Given the description of an element on the screen output the (x, y) to click on. 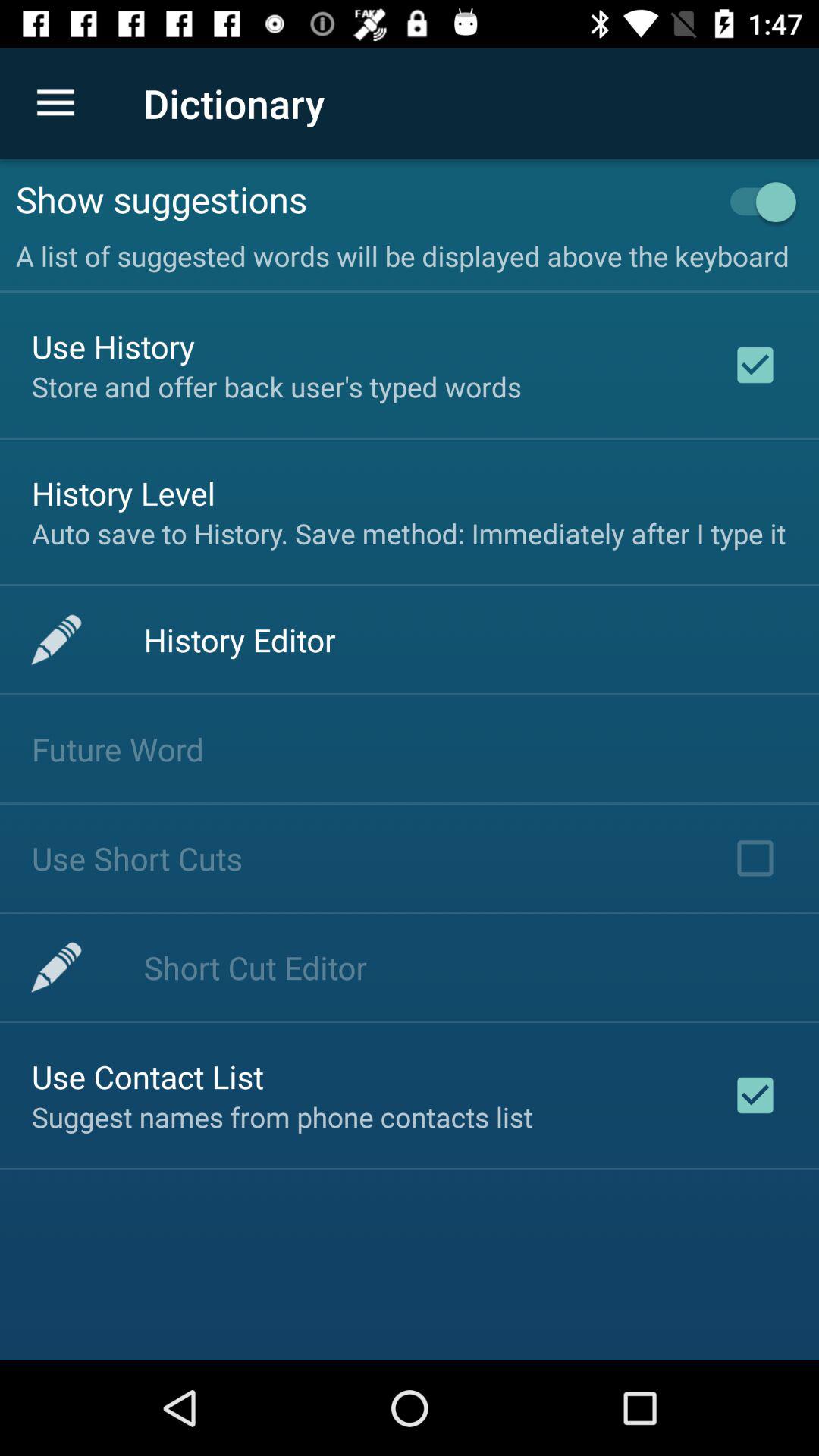
click icon at the bottom left corner (147, 1076)
